Given the description of an element on the screen output the (x, y) to click on. 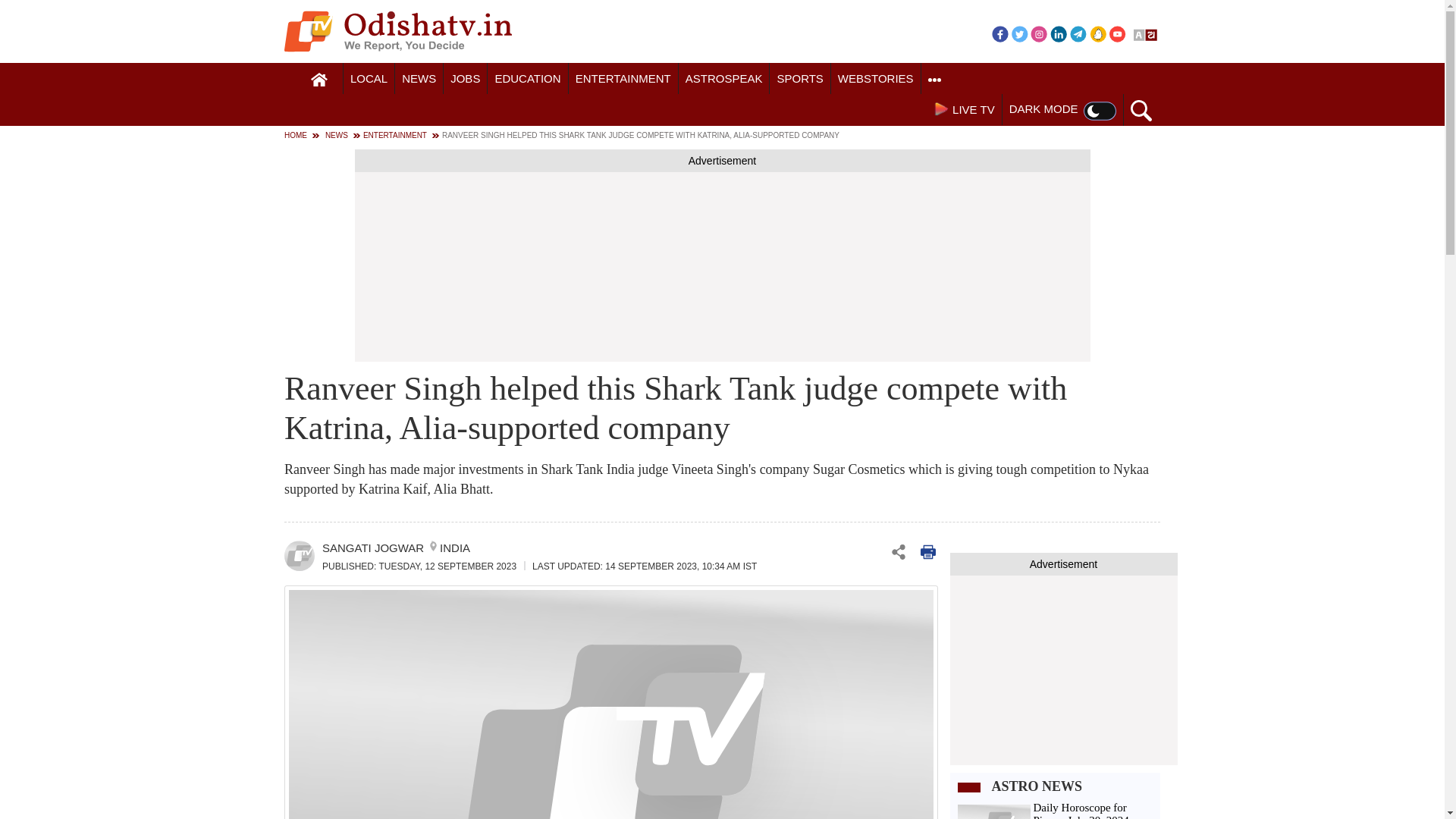
News (418, 78)
OdishaTV (397, 31)
Telegram (1078, 33)
NEWS (418, 78)
ENTERTAINMENT (623, 78)
Home Icon (319, 79)
Koo (1097, 33)
Odisha (368, 78)
Facebook (1000, 33)
Youtube (1117, 33)
EDUCATION (527, 78)
Twitter (1019, 33)
Instagram (1038, 33)
JOBS (465, 78)
LOCAL (368, 78)
